Given the description of an element on the screen output the (x, y) to click on. 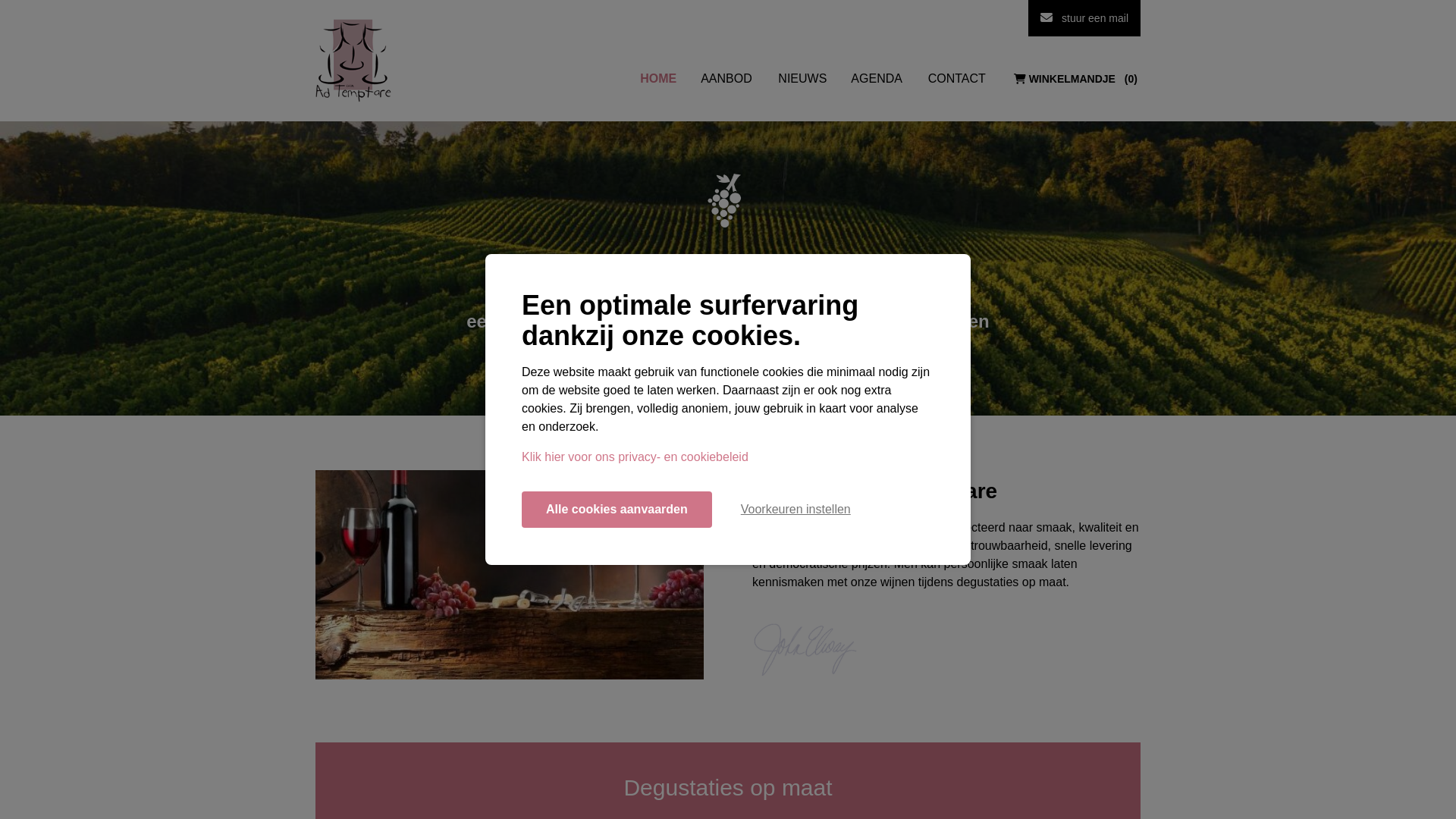
Ontdek ons aanbod Element type: text (727, 409)
WINKELMANDJE 0 Element type: text (1075, 78)
HOME Element type: text (658, 78)
Klik hier voor ons privacy- en cookiebeleid Element type: text (634, 457)
Alle cookies aanvaarden Element type: text (616, 509)
CONTACT Element type: text (957, 78)
Voorkeuren instellen Element type: text (795, 509)
AGENDA Element type: text (876, 78)
NIEUWS Element type: text (802, 78)
AANBOD Element type: text (726, 78)
